Given the description of an element on the screen output the (x, y) to click on. 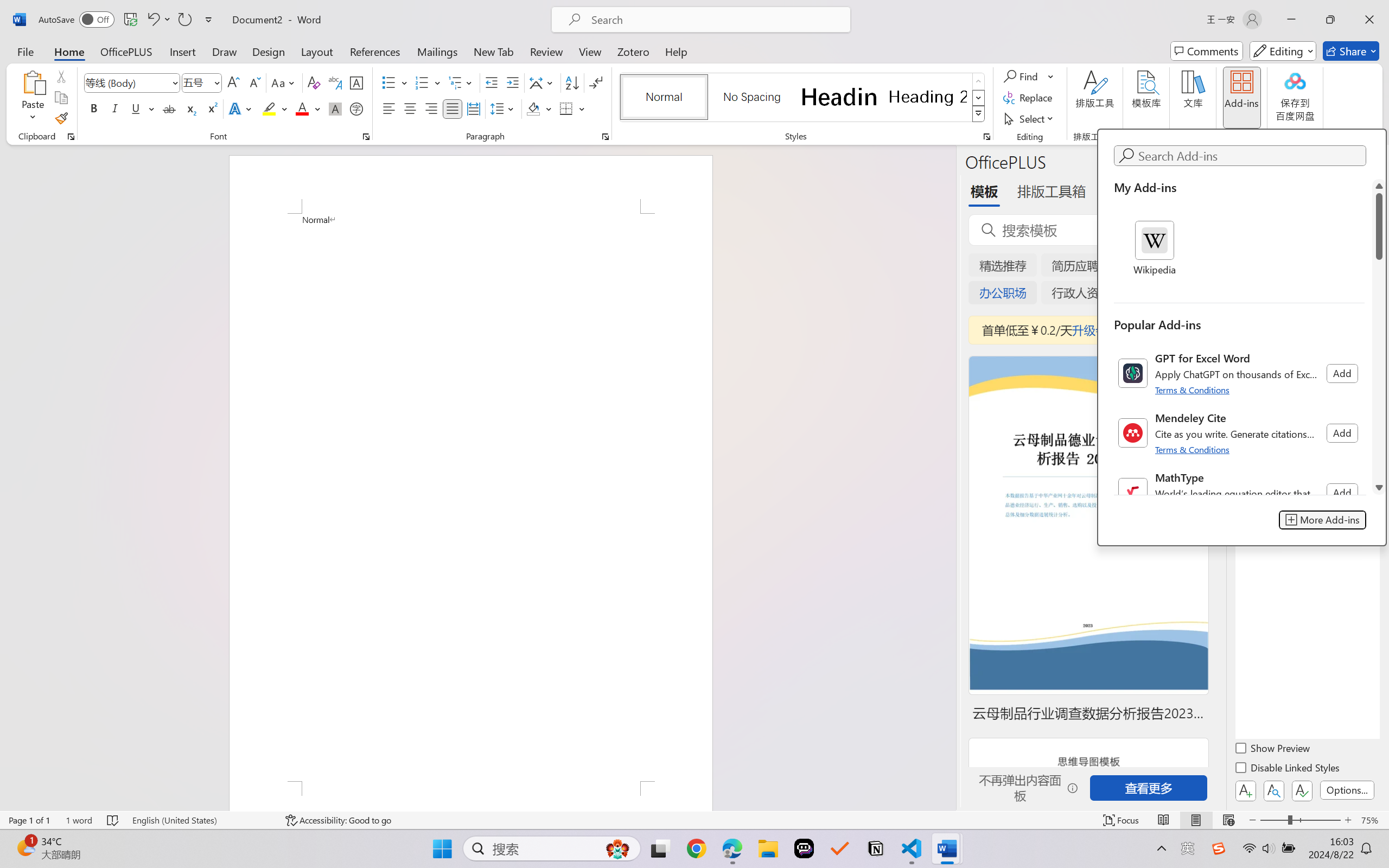
Subtitle TextBox (1156, 640)
From Current Slide... (121, 62)
Read more about making documents accessible (1300, 519)
